Given the description of an element on the screen output the (x, y) to click on. 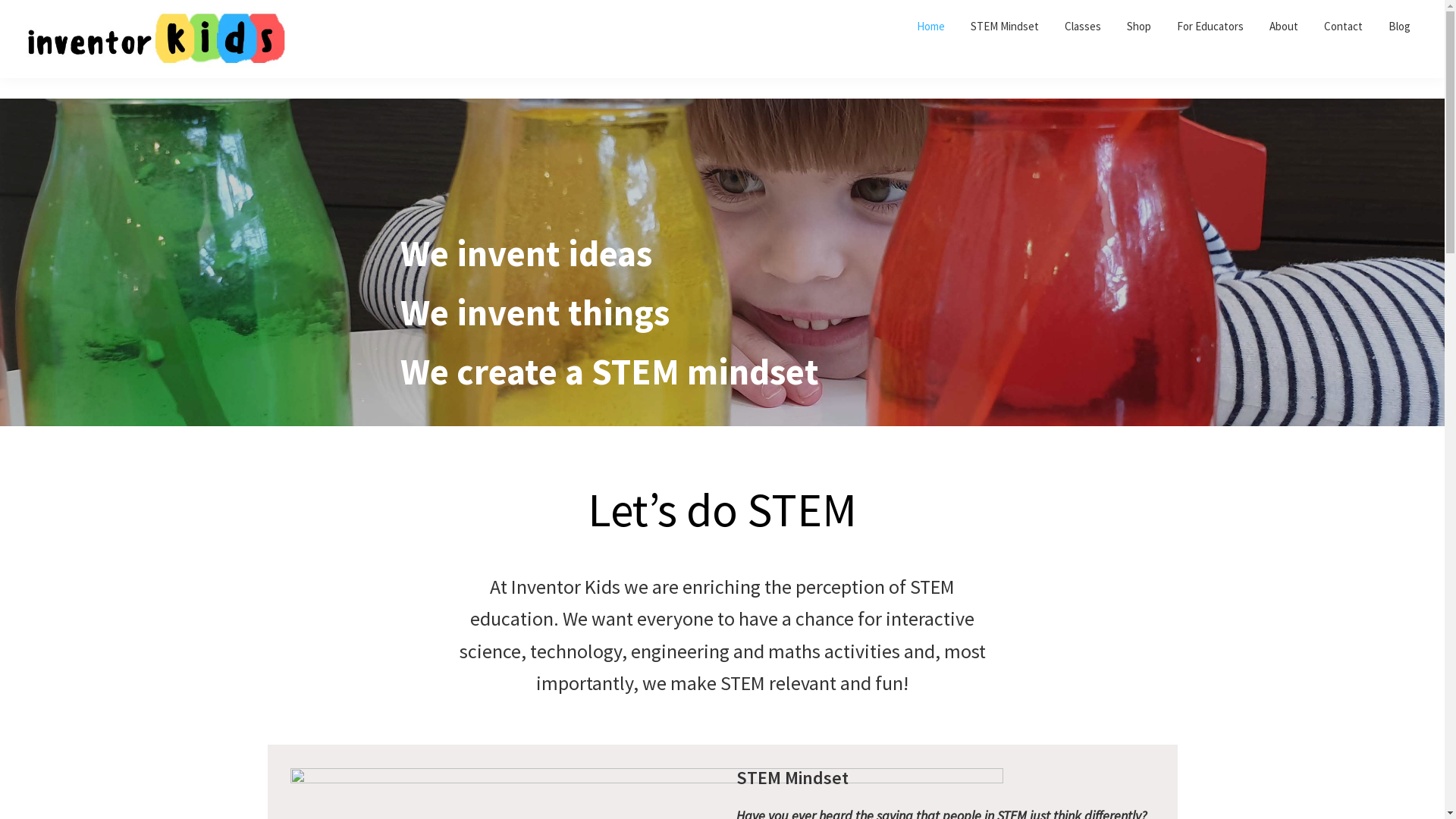
Inventor Kids Element type: text (50, 89)
Home Element type: text (930, 25)
For Educators Element type: text (1210, 25)
Skip to primary navigation Element type: text (0, 0)
Shop Element type: text (1138, 25)
STEM Mindset Element type: text (1004, 25)
About Element type: text (1283, 25)
Blog Element type: text (1399, 25)
Contact Element type: text (1343, 25)
Classes Element type: text (1082, 25)
